Given the description of an element on the screen output the (x, y) to click on. 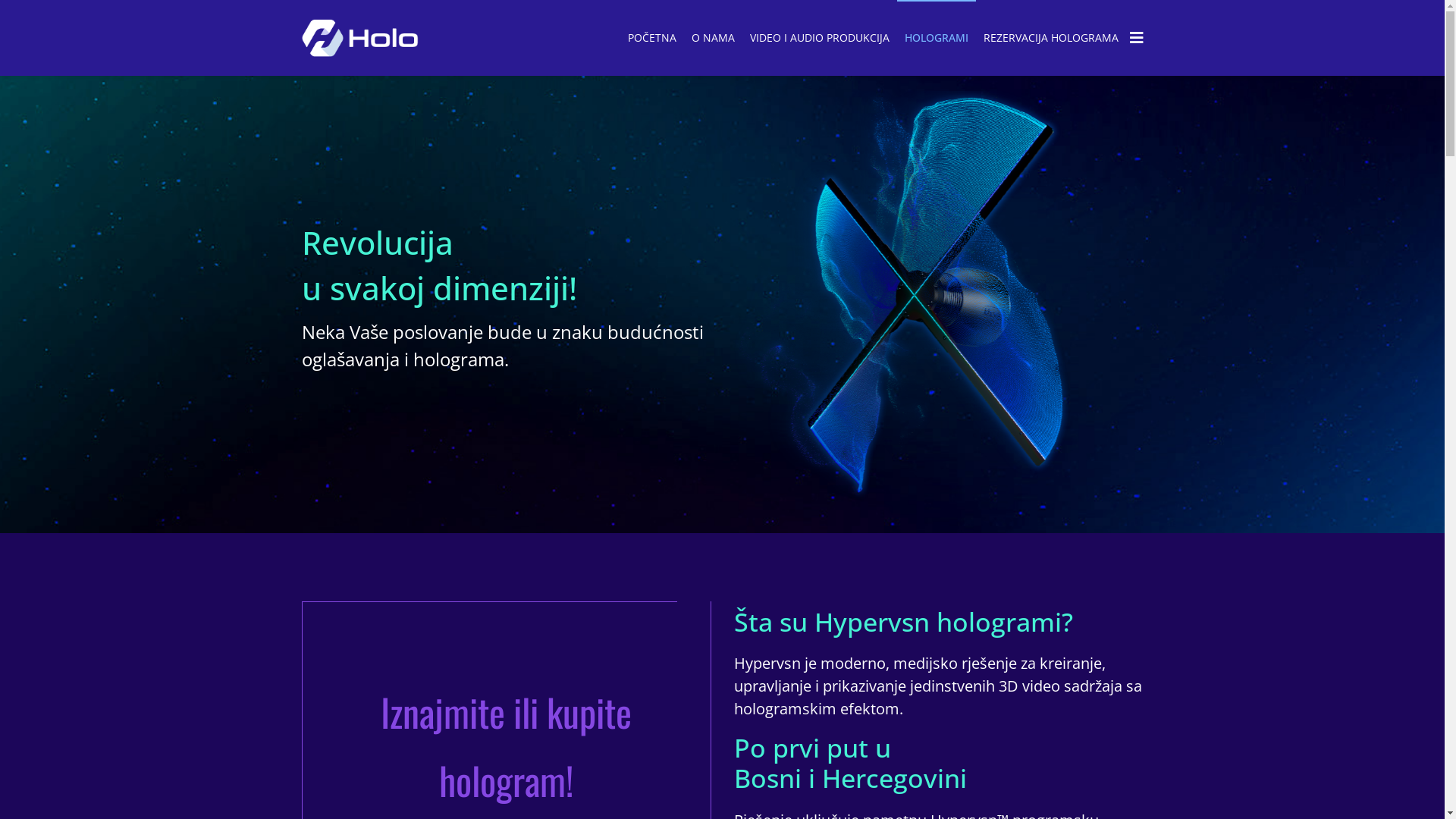
REZERVACIJA HOLOGRAMA Element type: text (1050, 37)
VIDEO I AUDIO PRODUKCIJA Element type: text (818, 37)
HOLOGRAMI Element type: text (935, 37)
O NAMA Element type: text (713, 37)
Navigation Element type: hover (1136, 37)
